Given the description of an element on the screen output the (x, y) to click on. 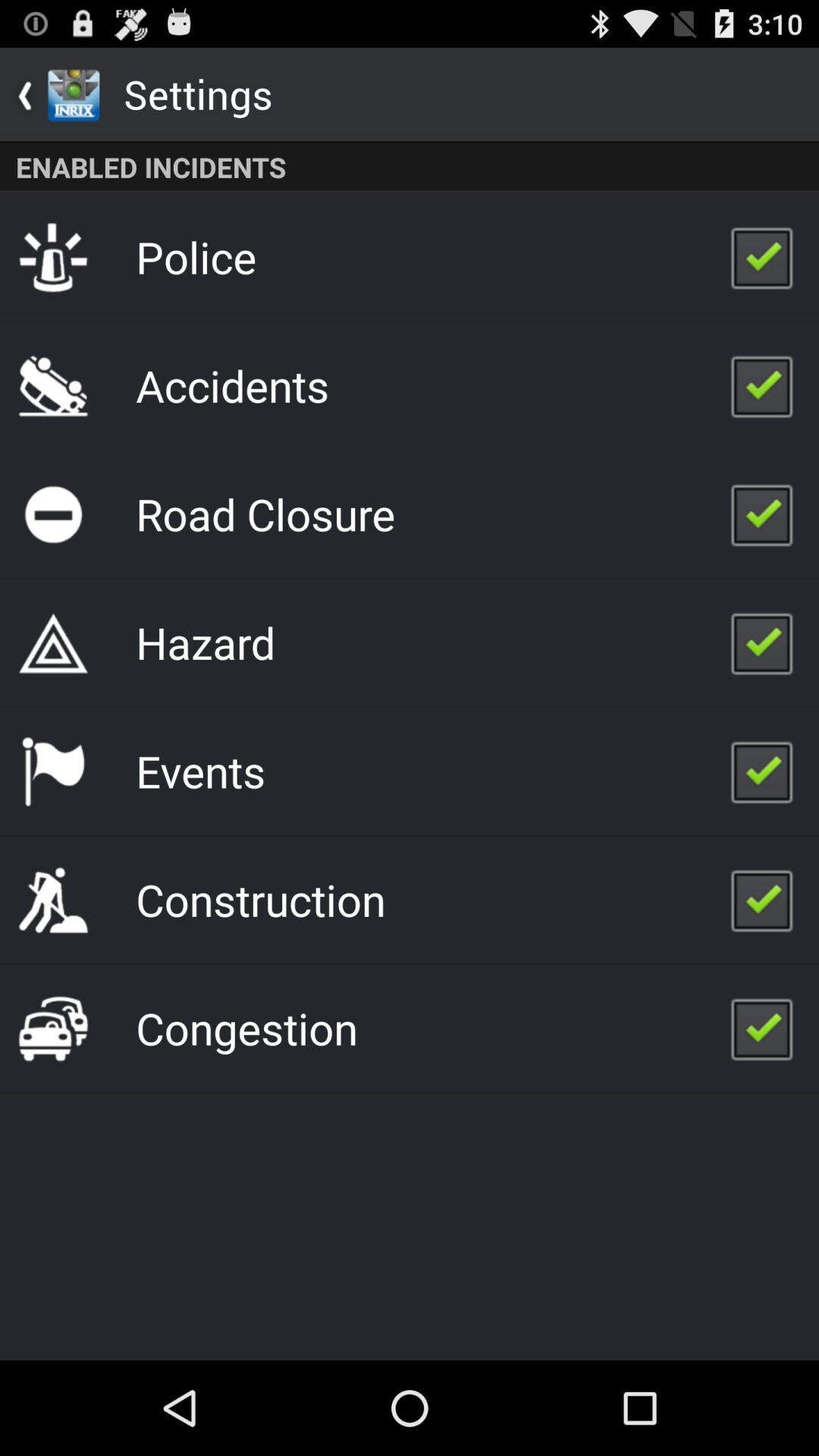
turn on the icon below the construction app (246, 1027)
